Given the description of an element on the screen output the (x, y) to click on. 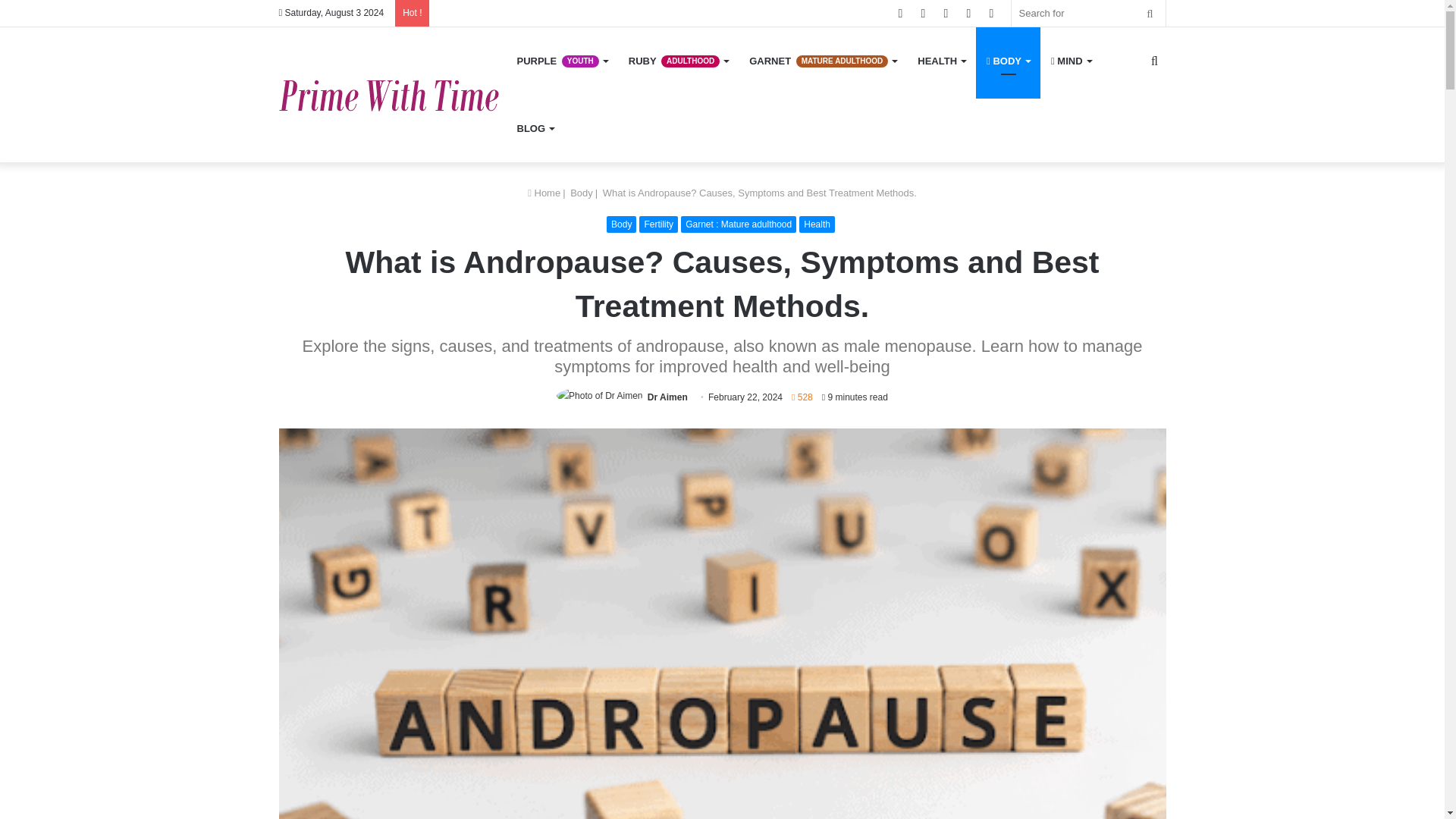
RUBY ADULTHOOD (677, 61)
GARNET MATURE ADULTHOOD (822, 61)
PURPLE YOUTH (561, 61)
Search for (1088, 13)
BODY (1008, 61)
HEALTH (941, 61)
Search for (1149, 13)
Prime With Time (392, 94)
Dr Aimen (667, 397)
